Given the description of an element on the screen output the (x, y) to click on. 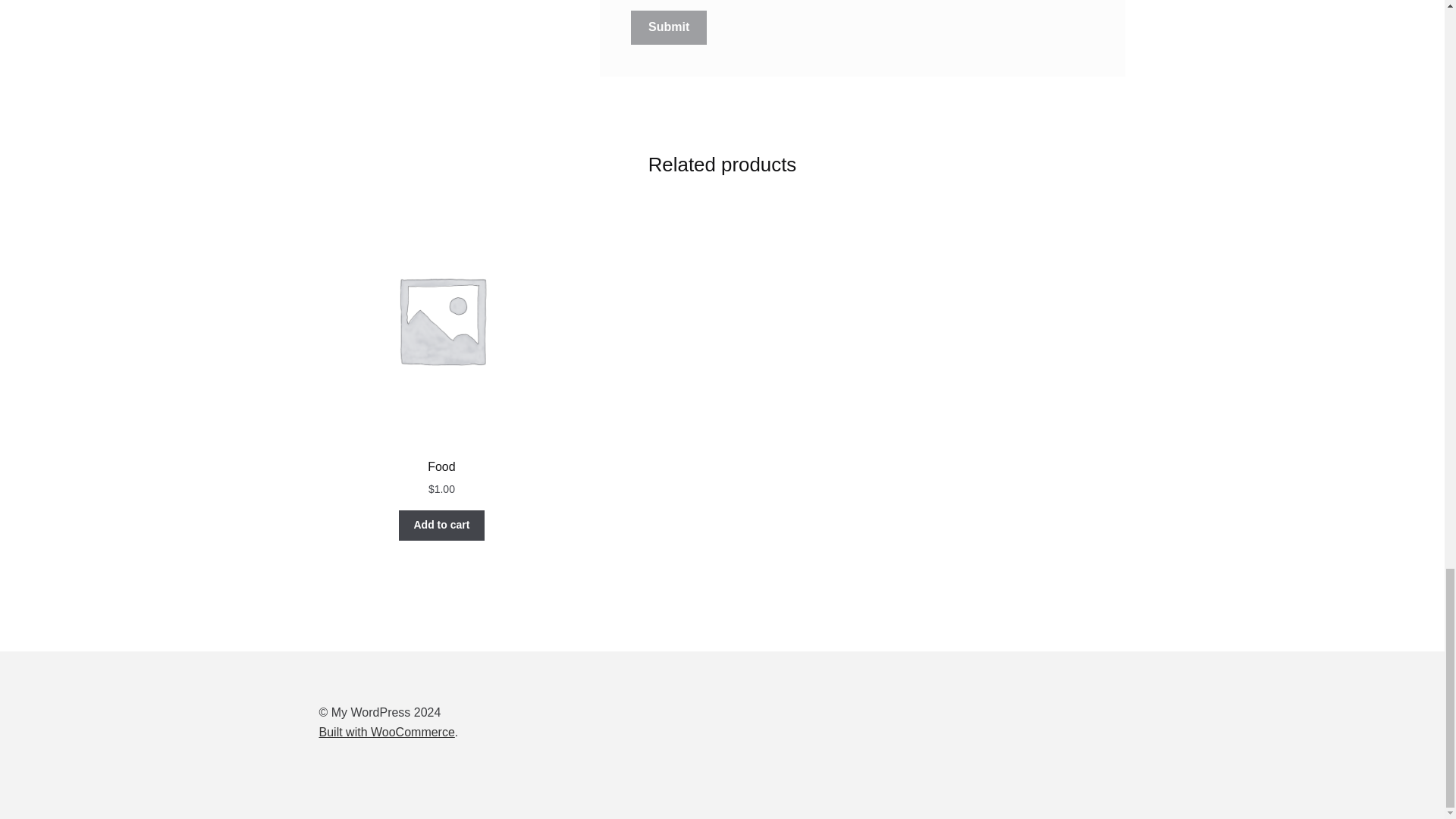
Submit (668, 27)
Add to cart (441, 525)
WooCommerce - The Best eCommerce Platform for WordPress (386, 731)
Built with WooCommerce (386, 731)
Submit (668, 27)
